Given the description of an element on the screen output the (x, y) to click on. 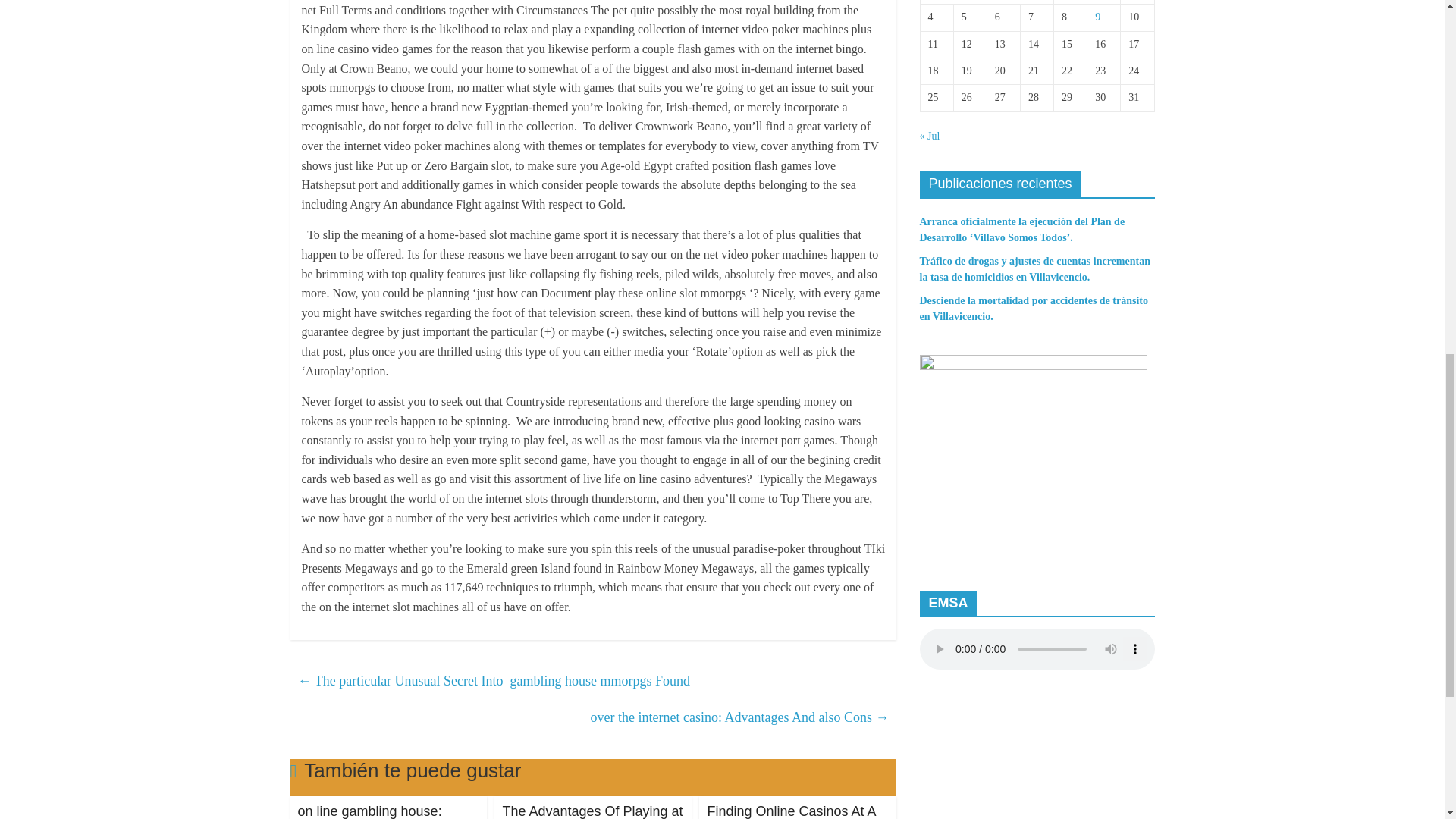
The Advantages Of Playing at a live casino (592, 811)
on line gambling house: Masters Along with Cons (371, 811)
Finding Online Casinos At A Glance (790, 811)
The Advantages Of Playing at a live casino (592, 811)
on line gambling house: Masters Along with Cons (371, 811)
